Given the description of an element on the screen output the (x, y) to click on. 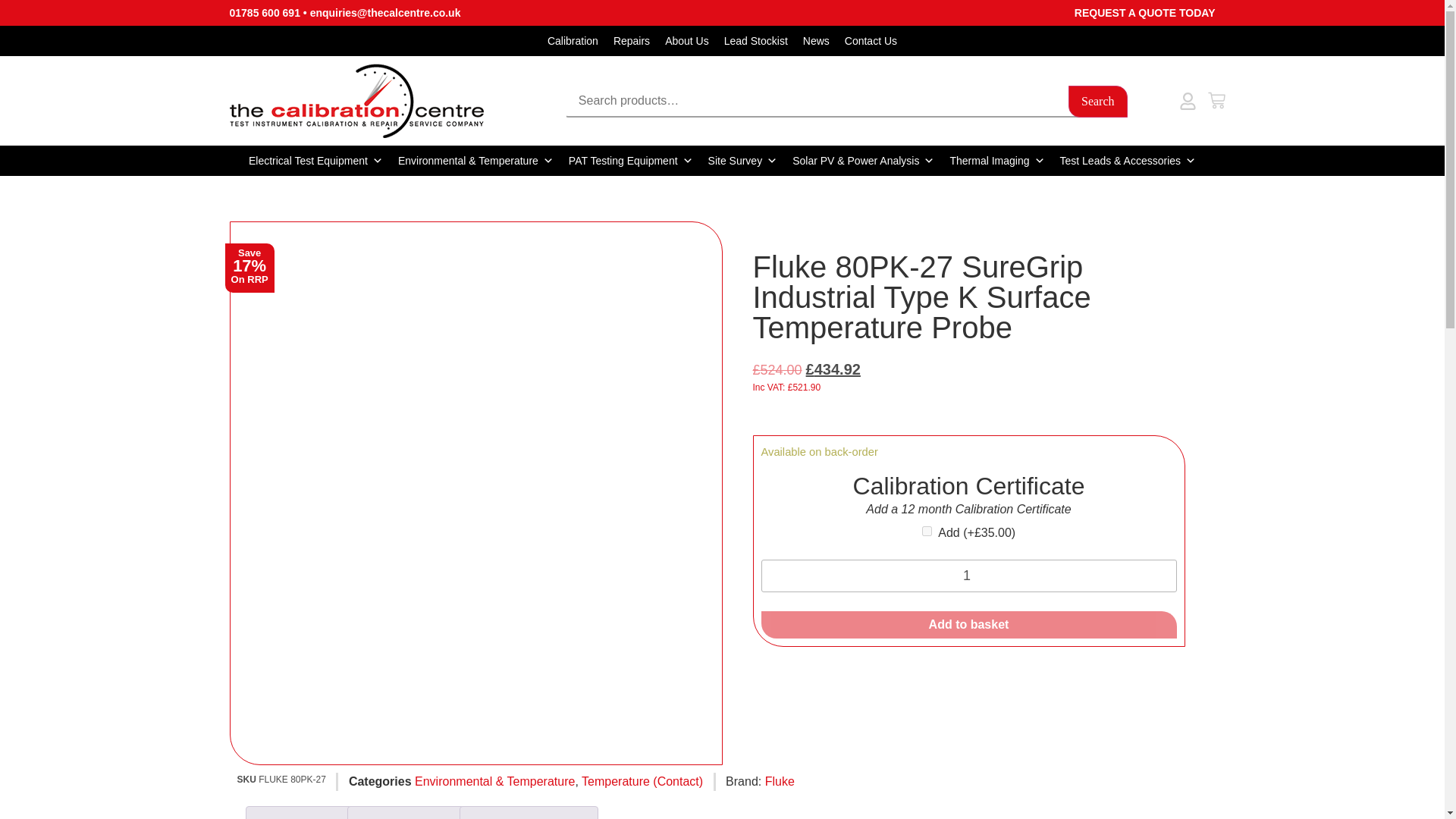
1 (968, 575)
add (926, 531)
01785 600 691 (263, 12)
REQUEST A QUOTE TODAY (1144, 12)
